Given the description of an element on the screen output the (x, y) to click on. 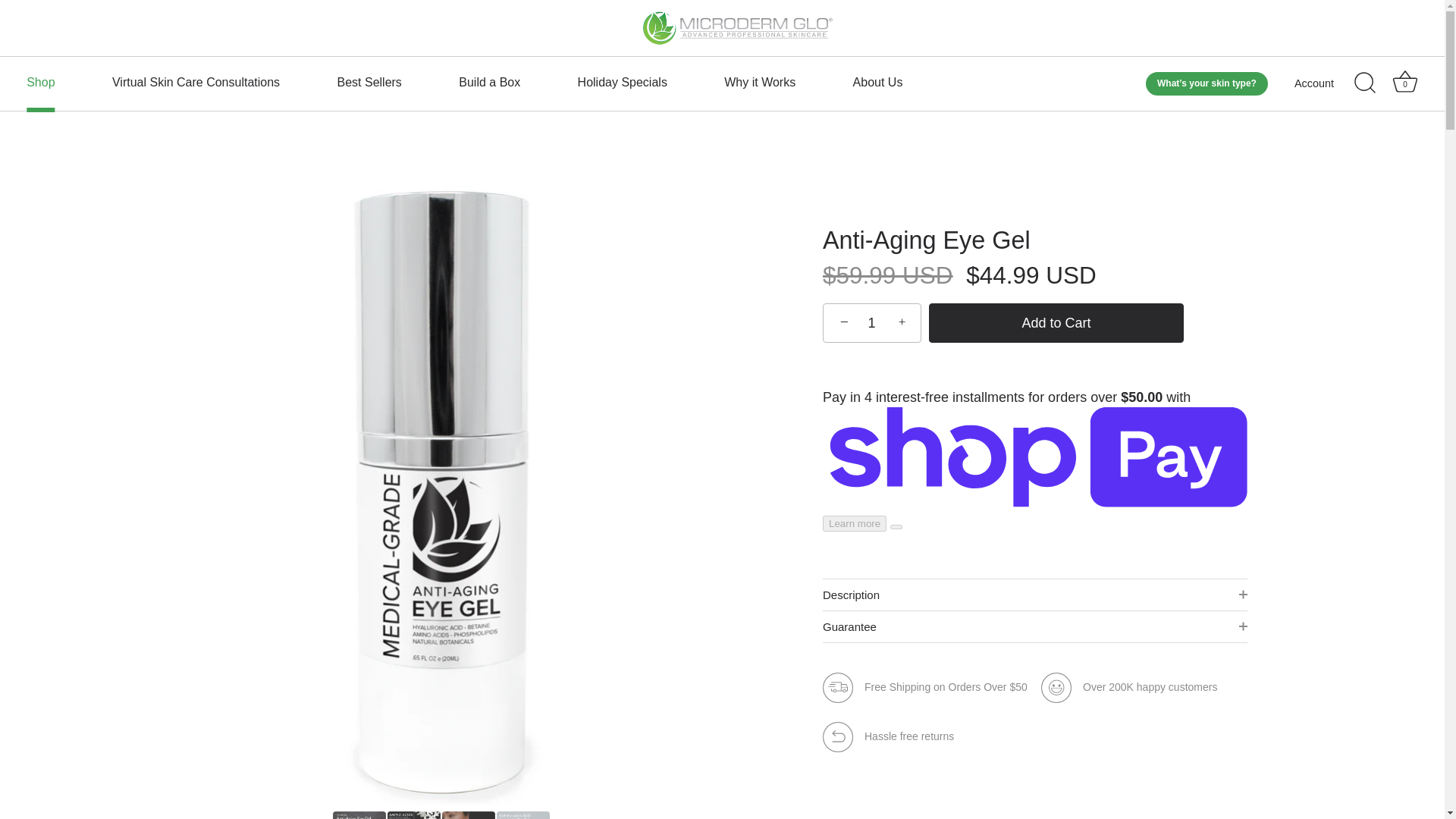
Skip to content (1405, 82)
About Us (622, 82)
Basket (876, 82)
Shop (1404, 81)
Why it Works (40, 82)
Virtual Skin Care Consultations (759, 82)
Build a Box (196, 82)
Best Sellers (489, 82)
Account (369, 82)
1 (1326, 83)
